Given the description of an element on the screen output the (x, y) to click on. 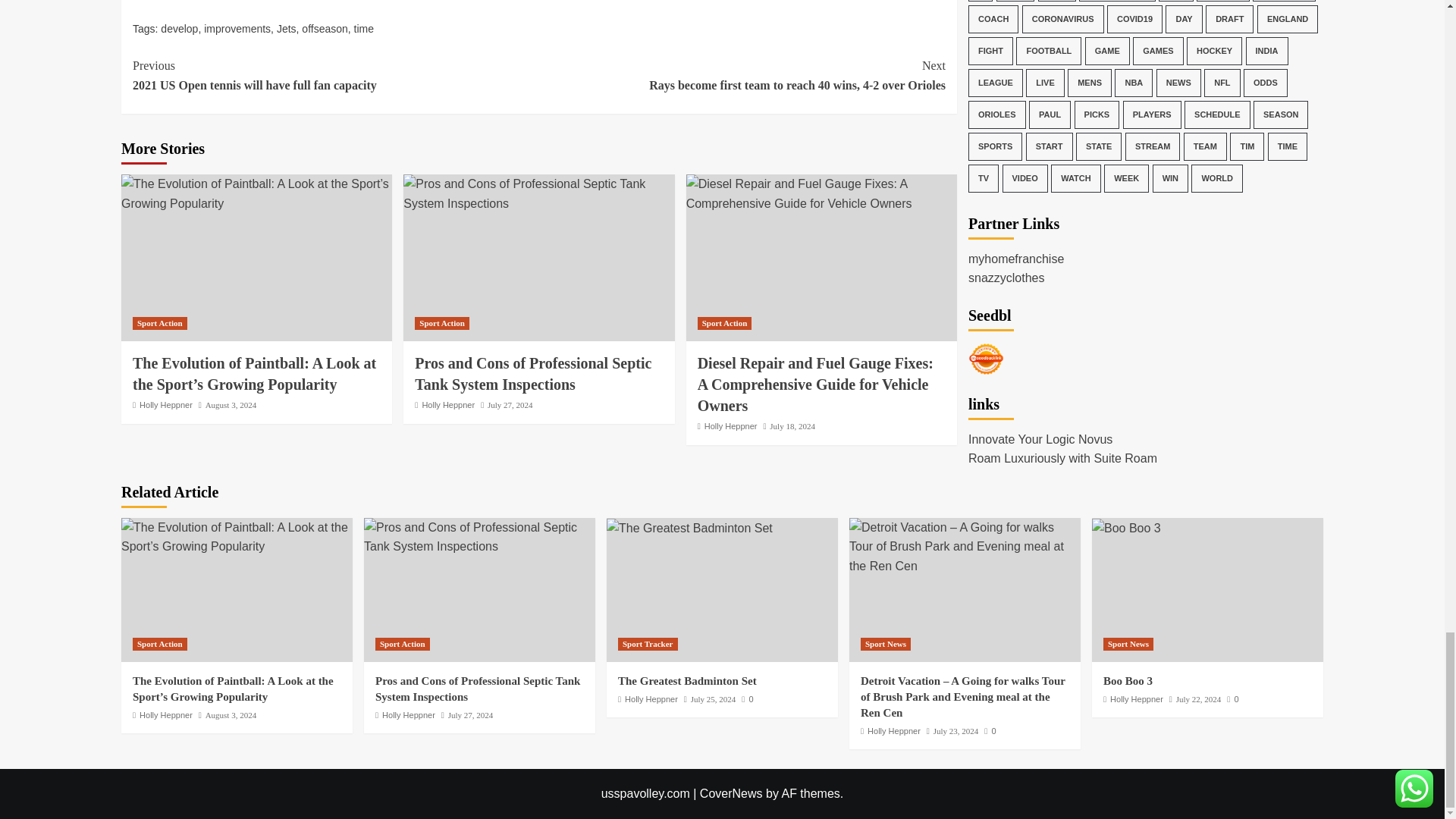
Pros and Cons of Professional Septic Tank System Inspections (538, 193)
offseason (324, 28)
Jets (286, 28)
develop (179, 28)
improvements (236, 28)
Sport Action (335, 75)
time (159, 323)
